Given the description of an element on the screen output the (x, y) to click on. 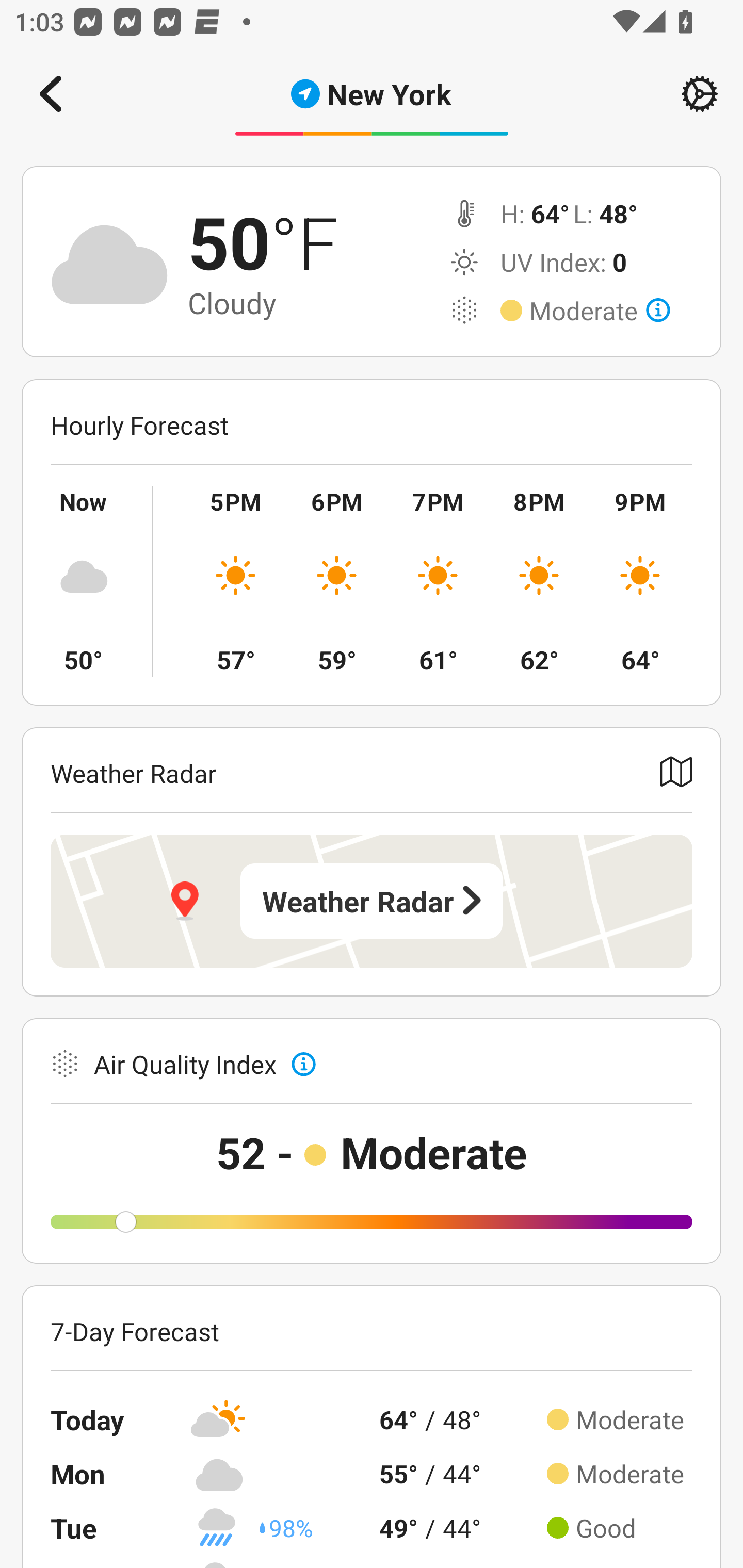
Navigate up (50, 93)
Setting (699, 93)
Moderate (599, 310)
Weather Radar (371, 900)
